Given the description of an element on the screen output the (x, y) to click on. 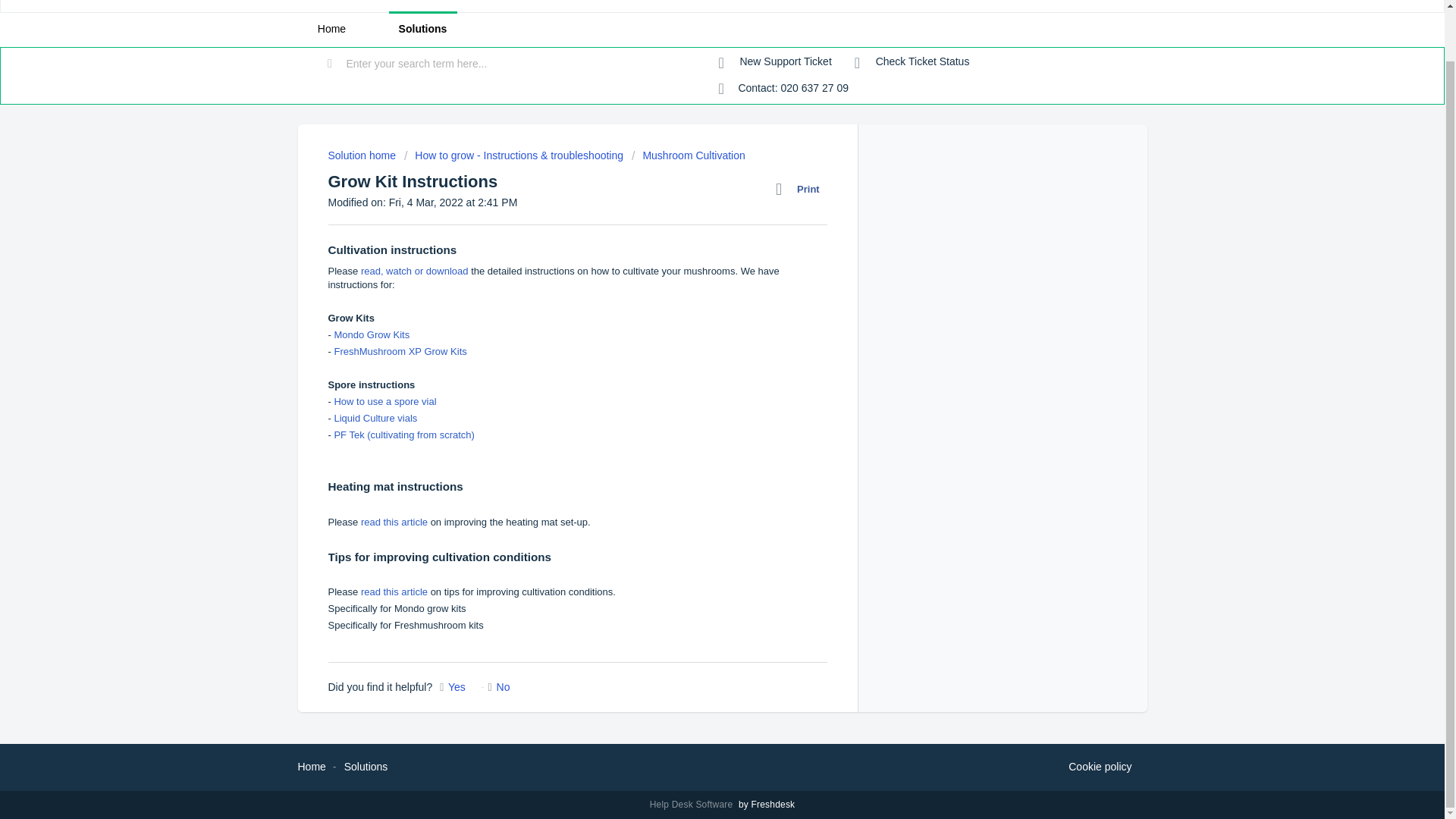
Solutions (422, 28)
read this article (394, 521)
Liquid Culture vials (374, 418)
Why we love Cookies (1099, 767)
Cookie policy (1099, 767)
FreshMushroom XP Grow Kits (399, 351)
New support ticket (775, 62)
Print this Article (801, 189)
Check Ticket Status (911, 62)
Help Desk Software (693, 804)
Mondo grow kits (429, 608)
Check ticket status (911, 62)
Solutions (365, 766)
Home (331, 28)
Contact: 020 637 27 09 (783, 88)
